Given the description of an element on the screen output the (x, y) to click on. 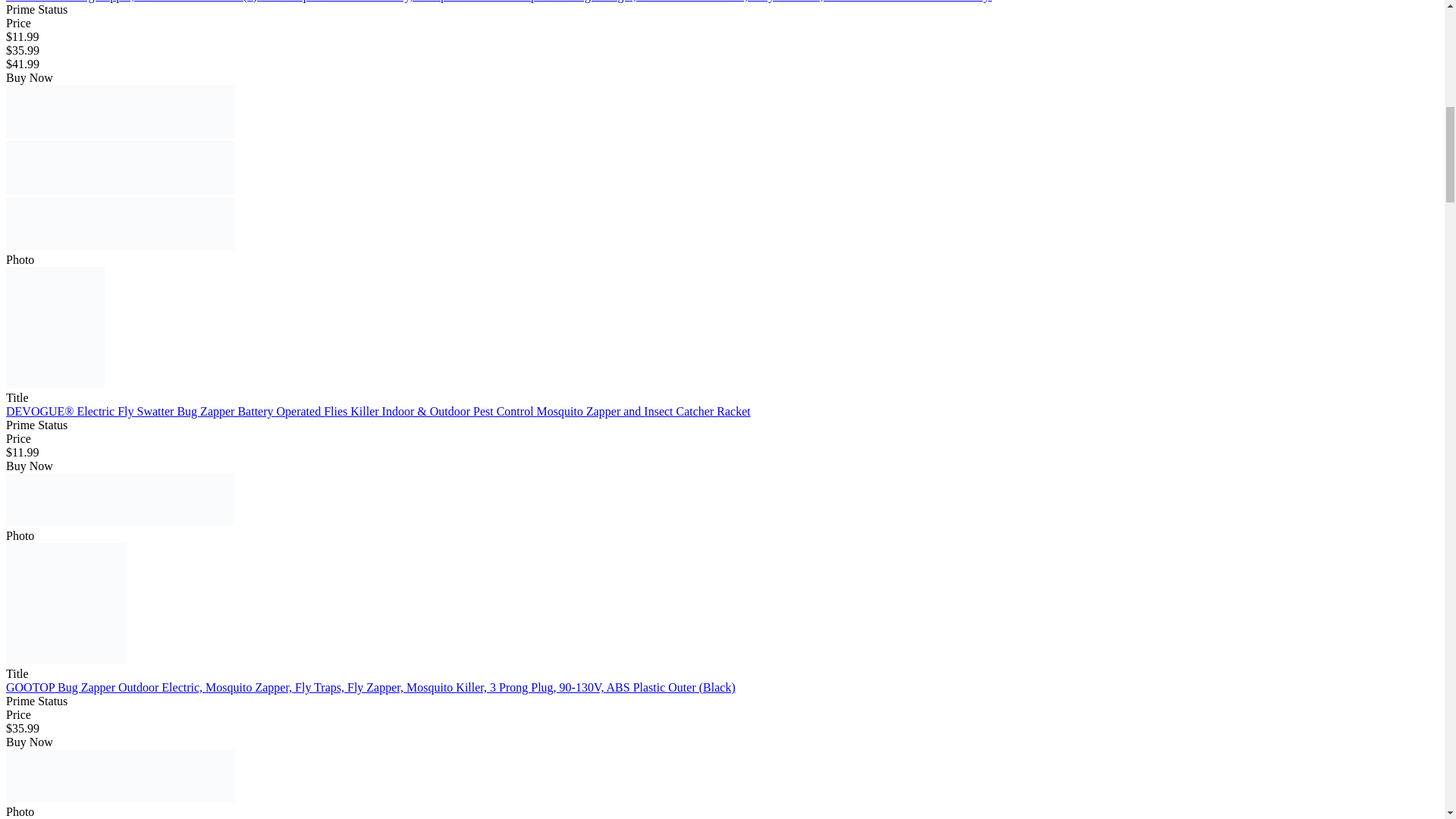
Buy On Amazon (119, 167)
Buy On Amazon (119, 111)
Buy On Amazon (119, 223)
Buy On Amazon (119, 499)
Buy On Amazon (119, 775)
